Given the description of an element on the screen output the (x, y) to click on. 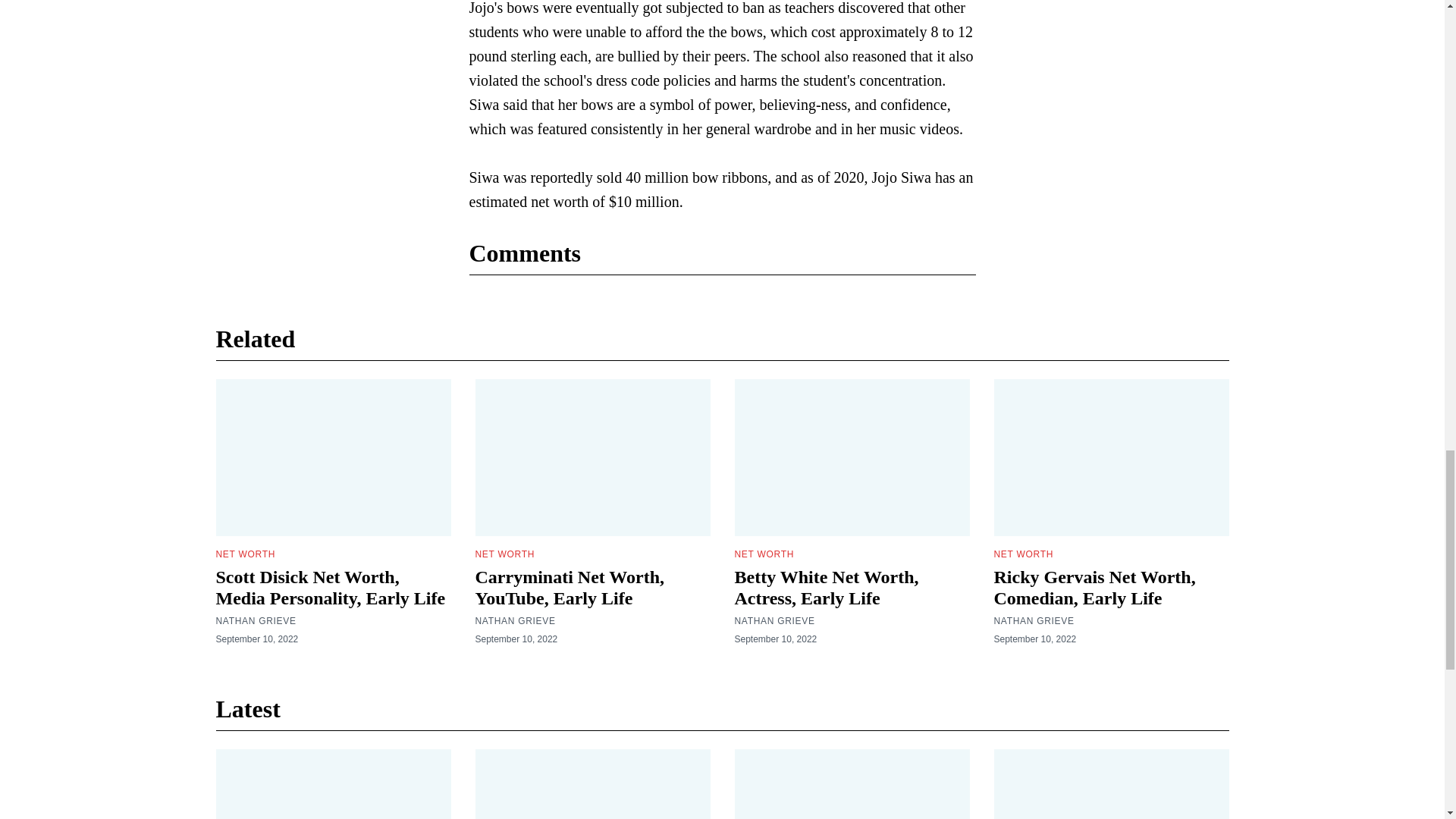
NET WORTH (1022, 553)
Scott Disick Net Worth, Media Personality, Early Life (330, 587)
NATHAN GRIEVE (1033, 621)
Carryminati Net Worth, YouTube, Early Life (568, 587)
NET WORTH (245, 553)
Betty White Net Worth, Actress, Early Life (825, 587)
NATHAN GRIEVE (514, 621)
NATHAN GRIEVE (773, 621)
NET WORTH (504, 553)
NET WORTH (763, 553)
